Given the description of an element on the screen output the (x, y) to click on. 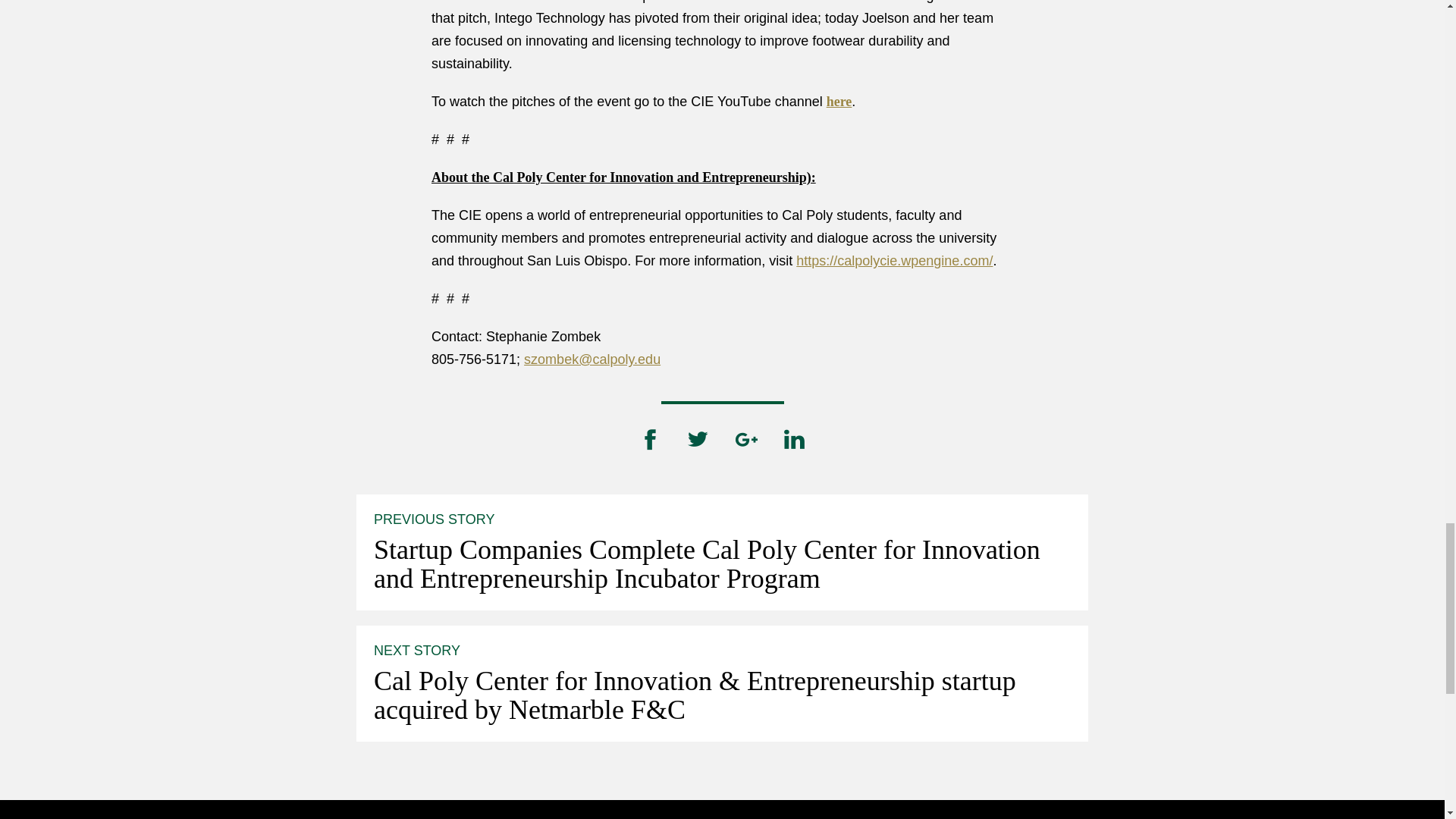
here (839, 101)
